Given the description of an element on the screen output the (x, y) to click on. 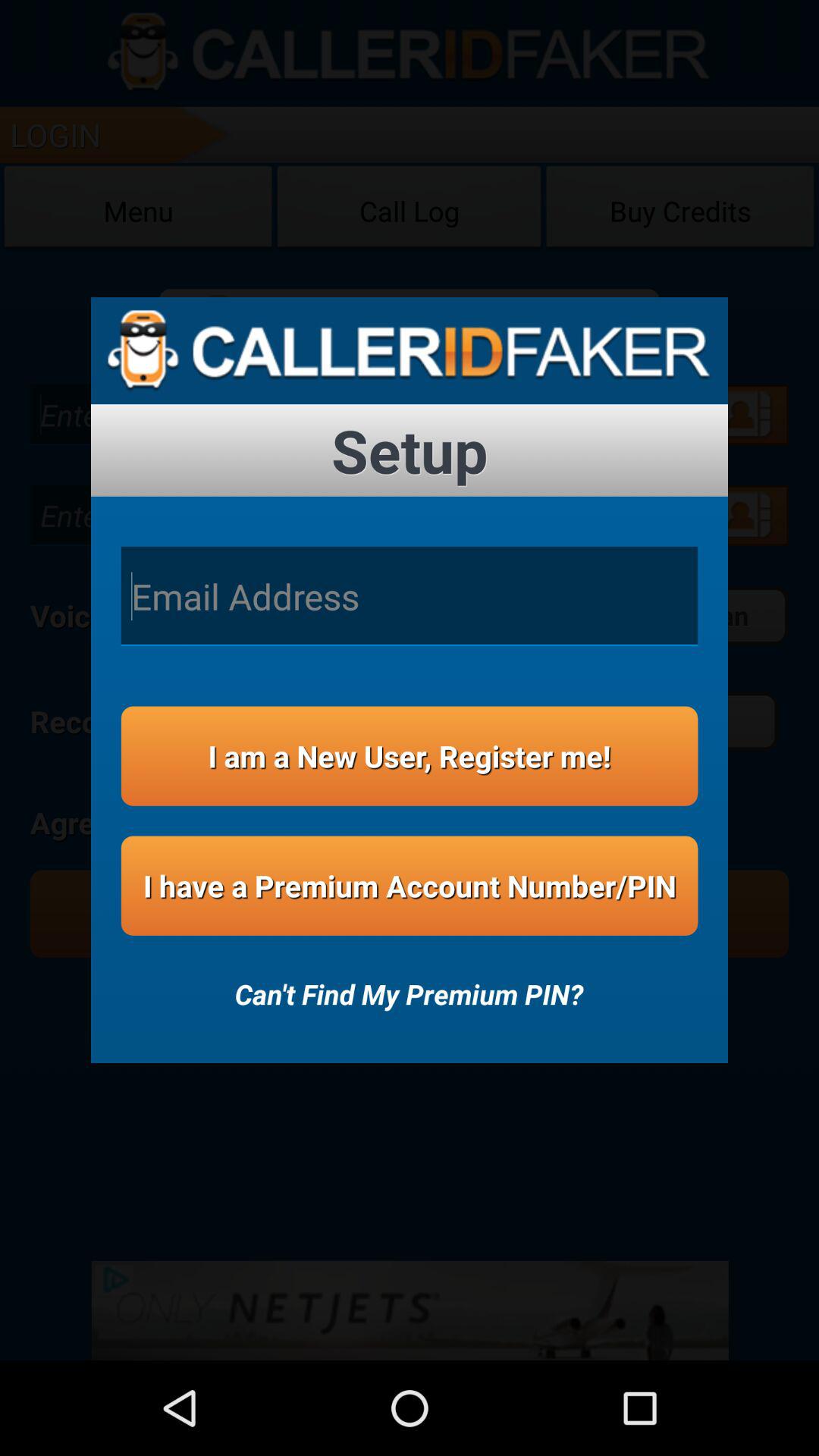
open the button below i have a icon (408, 983)
